Given the description of an element on the screen output the (x, y) to click on. 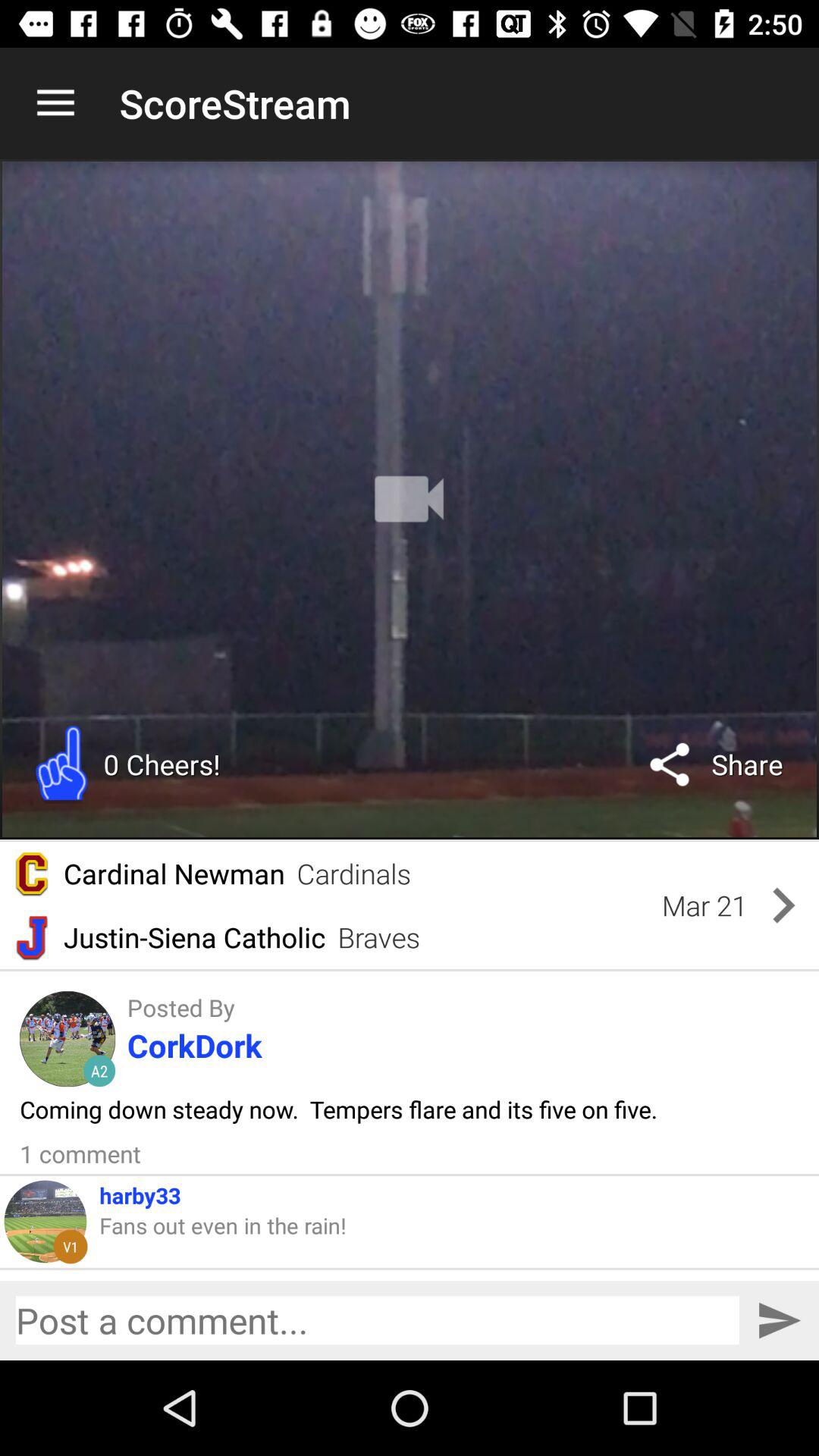
press icon to the left of cardinals icon (173, 873)
